Given the description of an element on the screen output the (x, y) to click on. 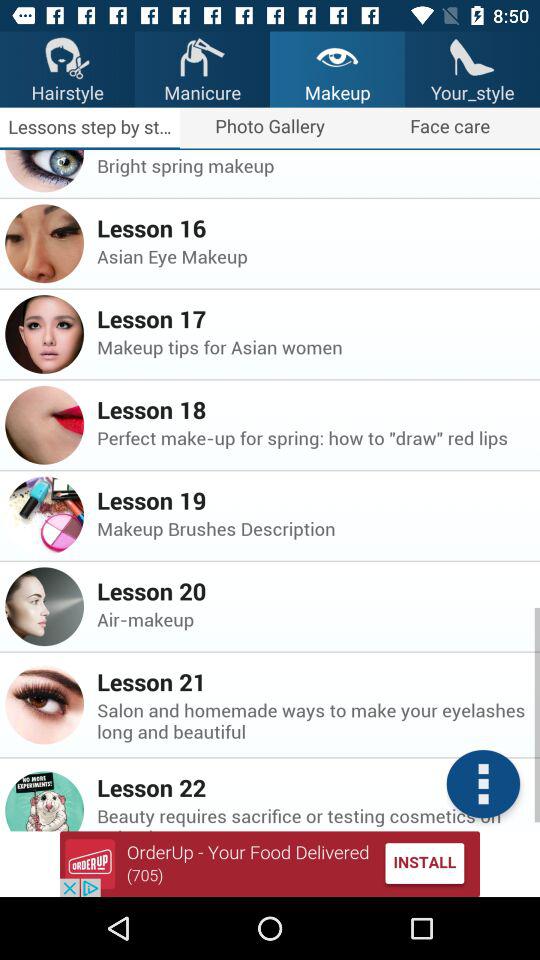
open submenu (483, 784)
